Given the description of an element on the screen output the (x, y) to click on. 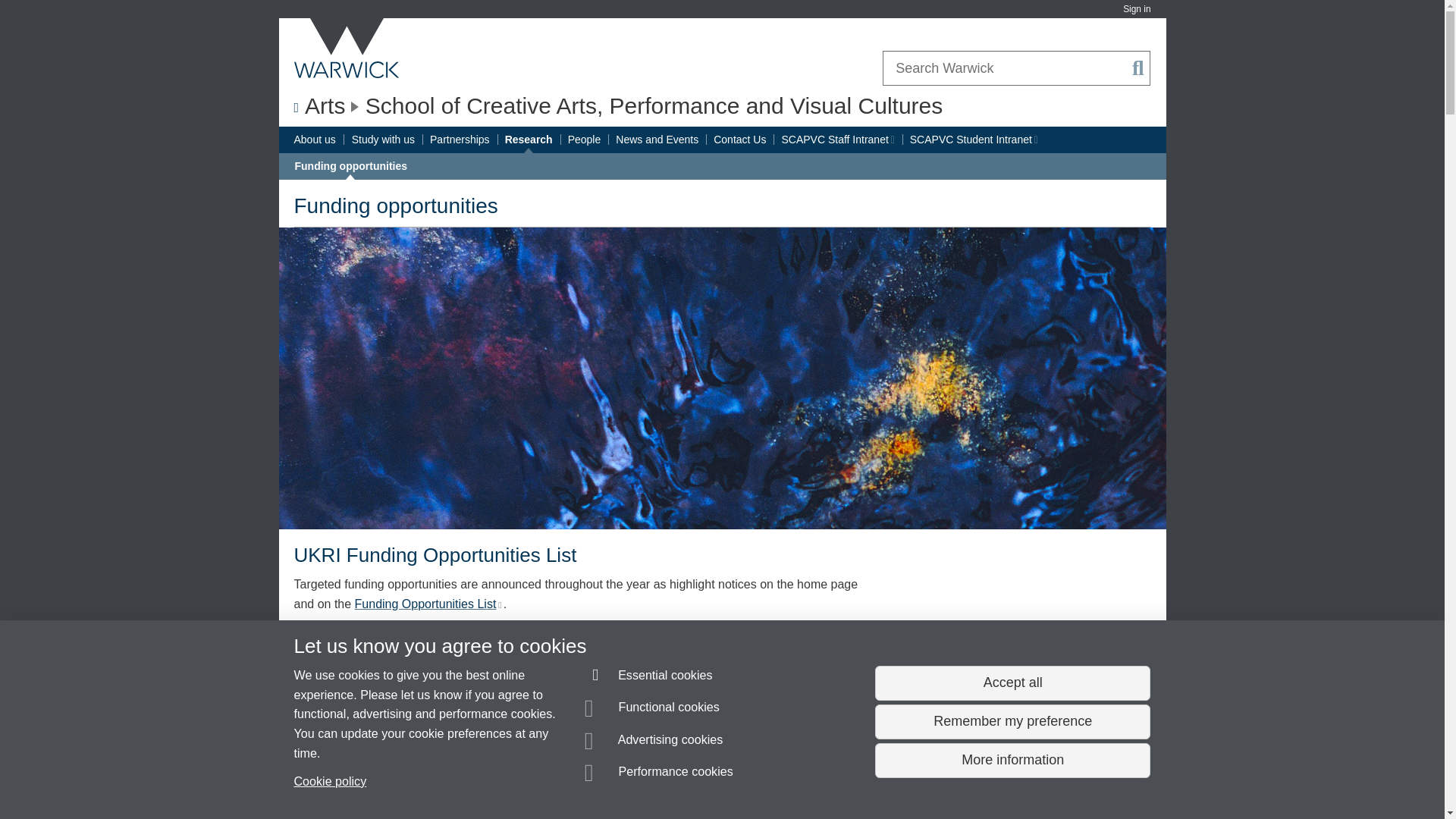
Research (529, 139)
Search (1138, 68)
Link opens in a new window (435, 696)
Restricted permissions (891, 140)
Study with us (383, 139)
true (429, 603)
Partnerships (1035, 140)
Sign in (459, 139)
true (1136, 9)
Contact Us (366, 696)
